Given the description of an element on the screen output the (x, y) to click on. 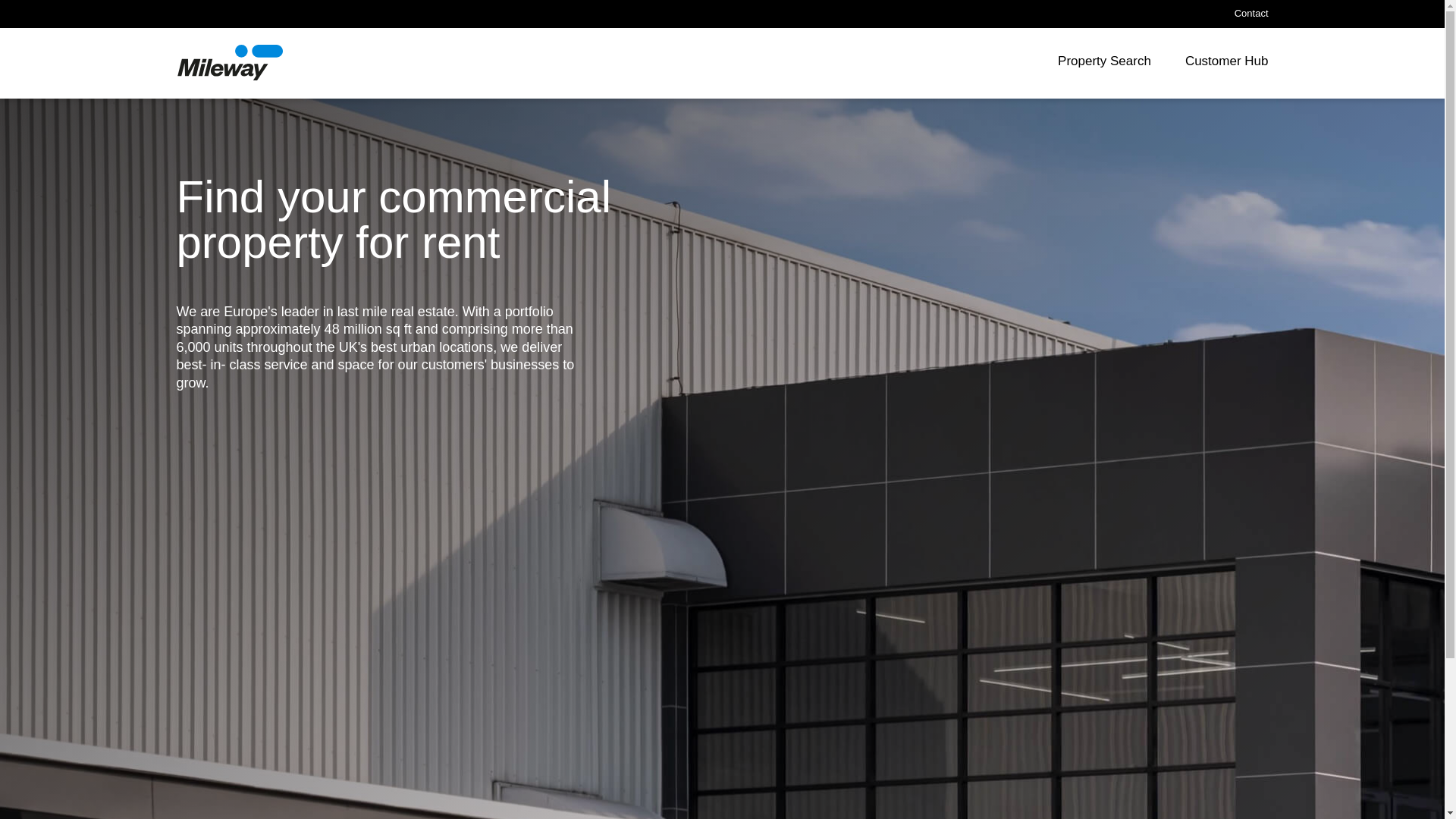
Property Search (1104, 63)
Contact (1251, 13)
Customer Hub (1226, 63)
